Given the description of an element on the screen output the (x, y) to click on. 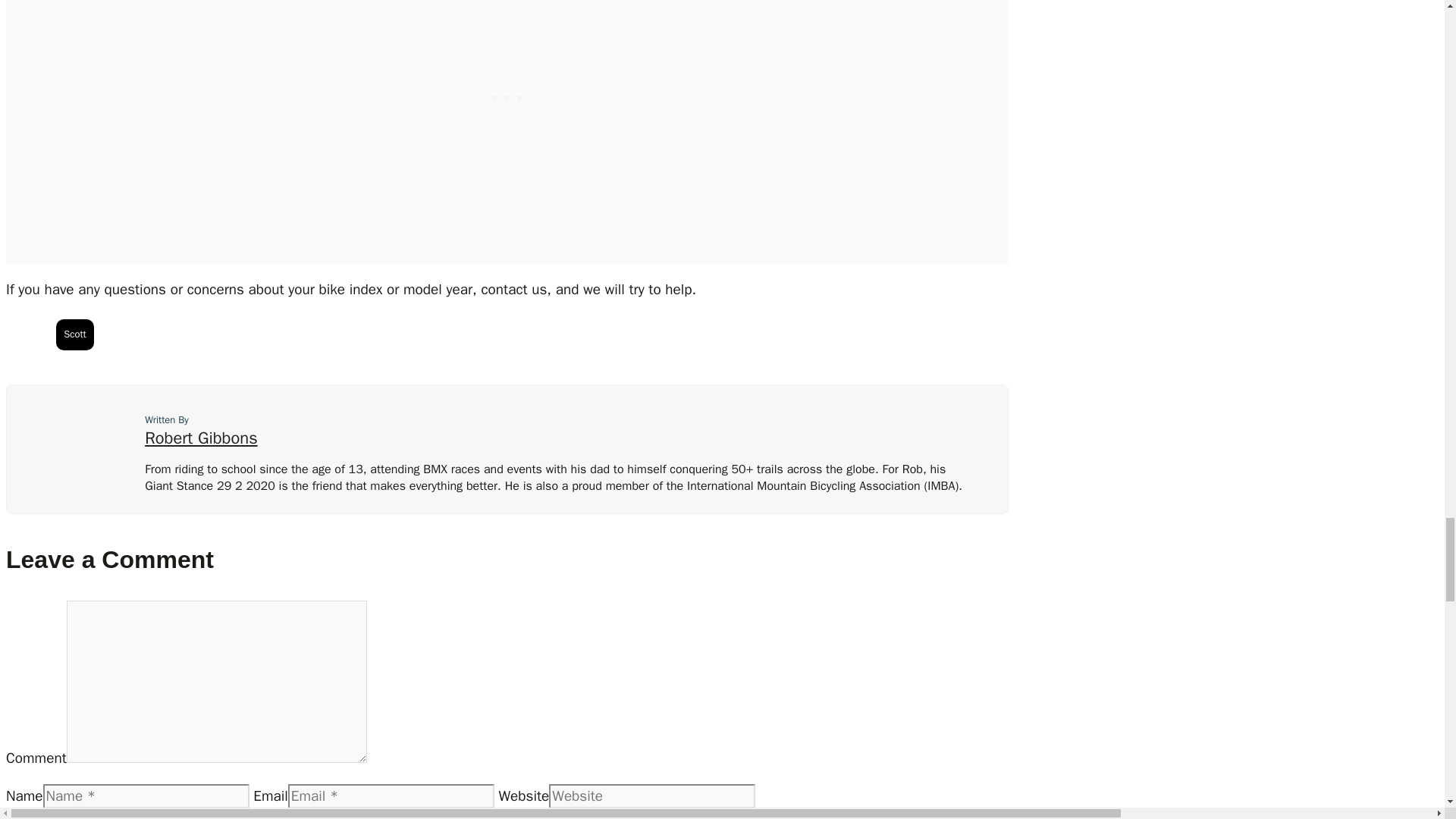
Scott (75, 334)
Robert Gibbons (200, 437)
